Given the description of an element on the screen output the (x, y) to click on. 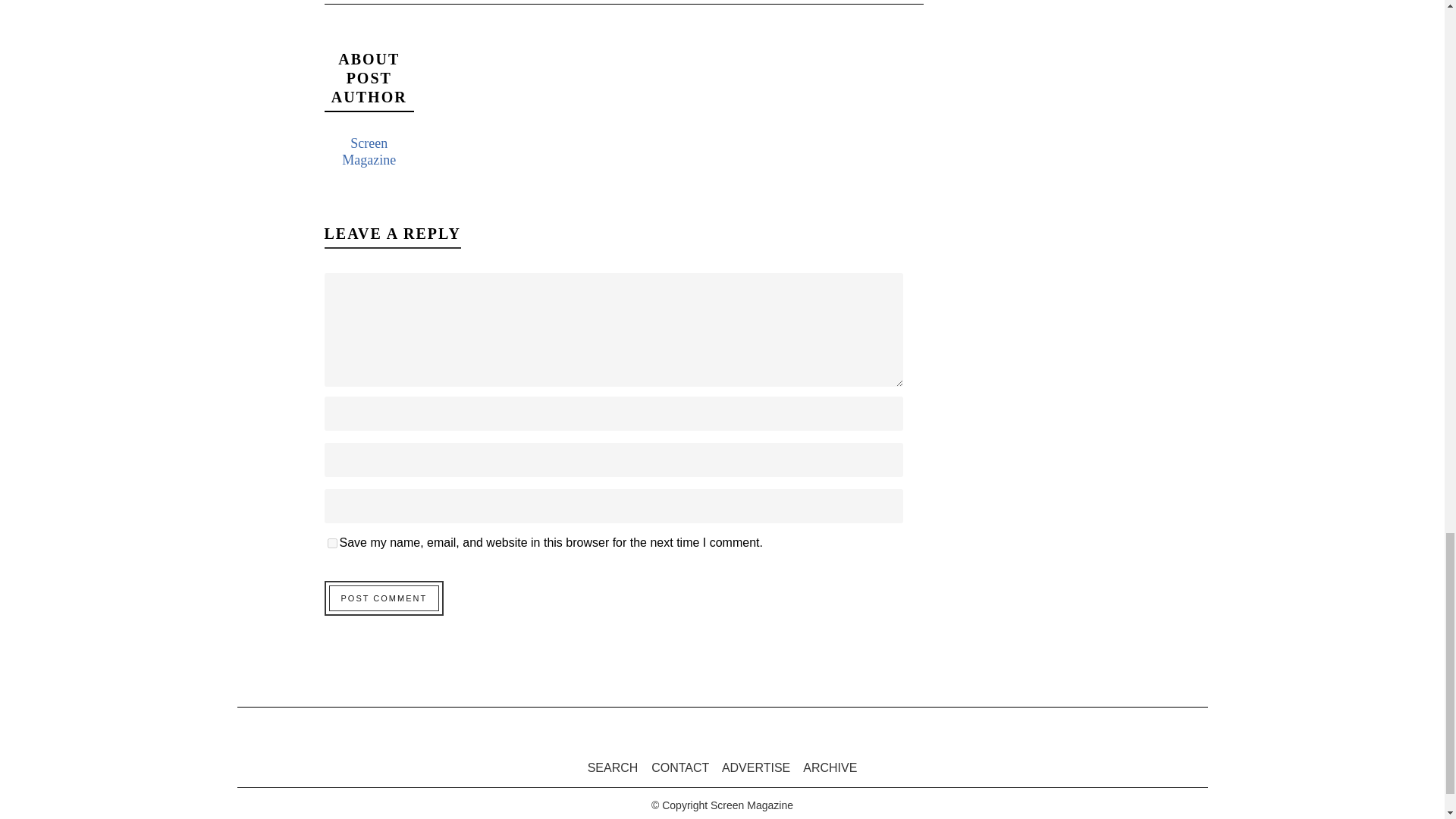
yes (332, 542)
Post Comment (384, 597)
Posts by Screen Magazine (369, 151)
